Given the description of an element on the screen output the (x, y) to click on. 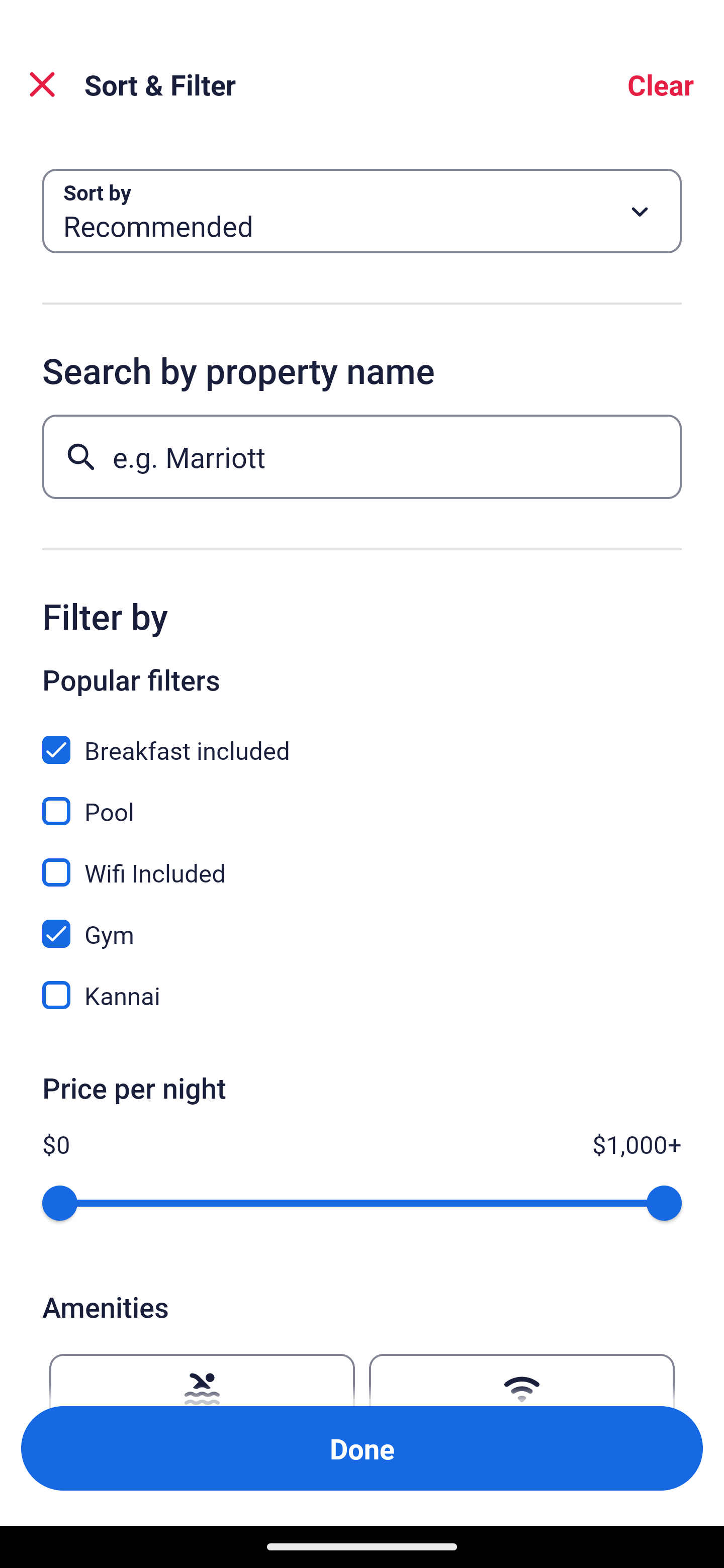
Close Sort and Filter (42, 84)
Clear (660, 84)
Sort by Button Recommended (361, 211)
e.g. Marriott Button (361, 455)
Breakfast included, Breakfast included (361, 738)
Pool, Pool (361, 800)
Wifi Included, Wifi Included (361, 861)
Gym, Gym (361, 922)
Kannai, Kannai (361, 995)
Apply and close Sort and Filter Done (361, 1448)
